Given the description of an element on the screen output the (x, y) to click on. 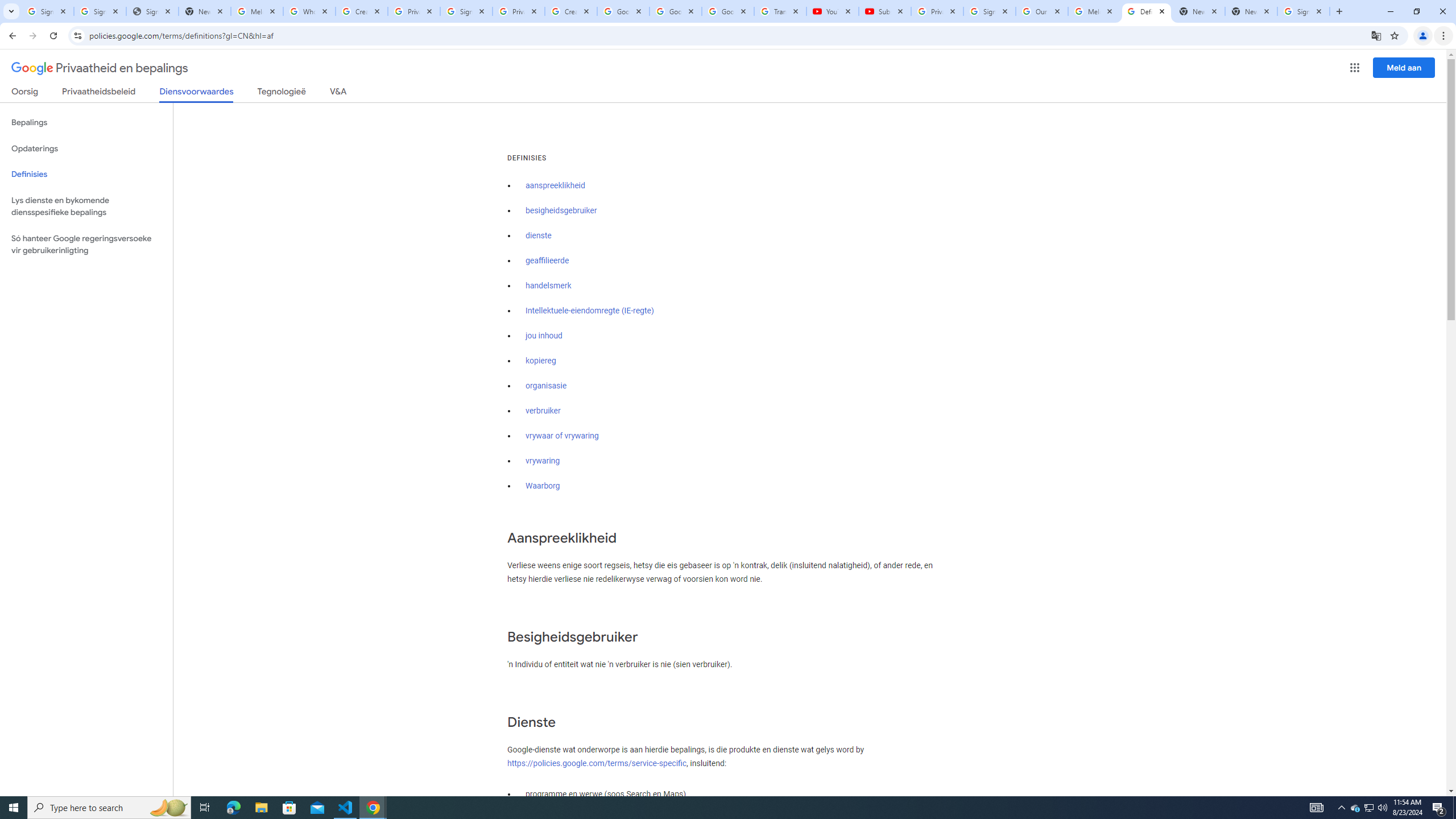
aanspreeklikheid (555, 185)
dienste (538, 235)
Diensvoorwaardes (196, 94)
Who is my administrator? - Google Account Help (309, 11)
Create your Google Account (571, 11)
Create your Google Account (361, 11)
Sign in - Google Accounts (466, 11)
Sign in - Google Accounts (47, 11)
Sign in - Google Accounts (1303, 11)
